Given the description of an element on the screen output the (x, y) to click on. 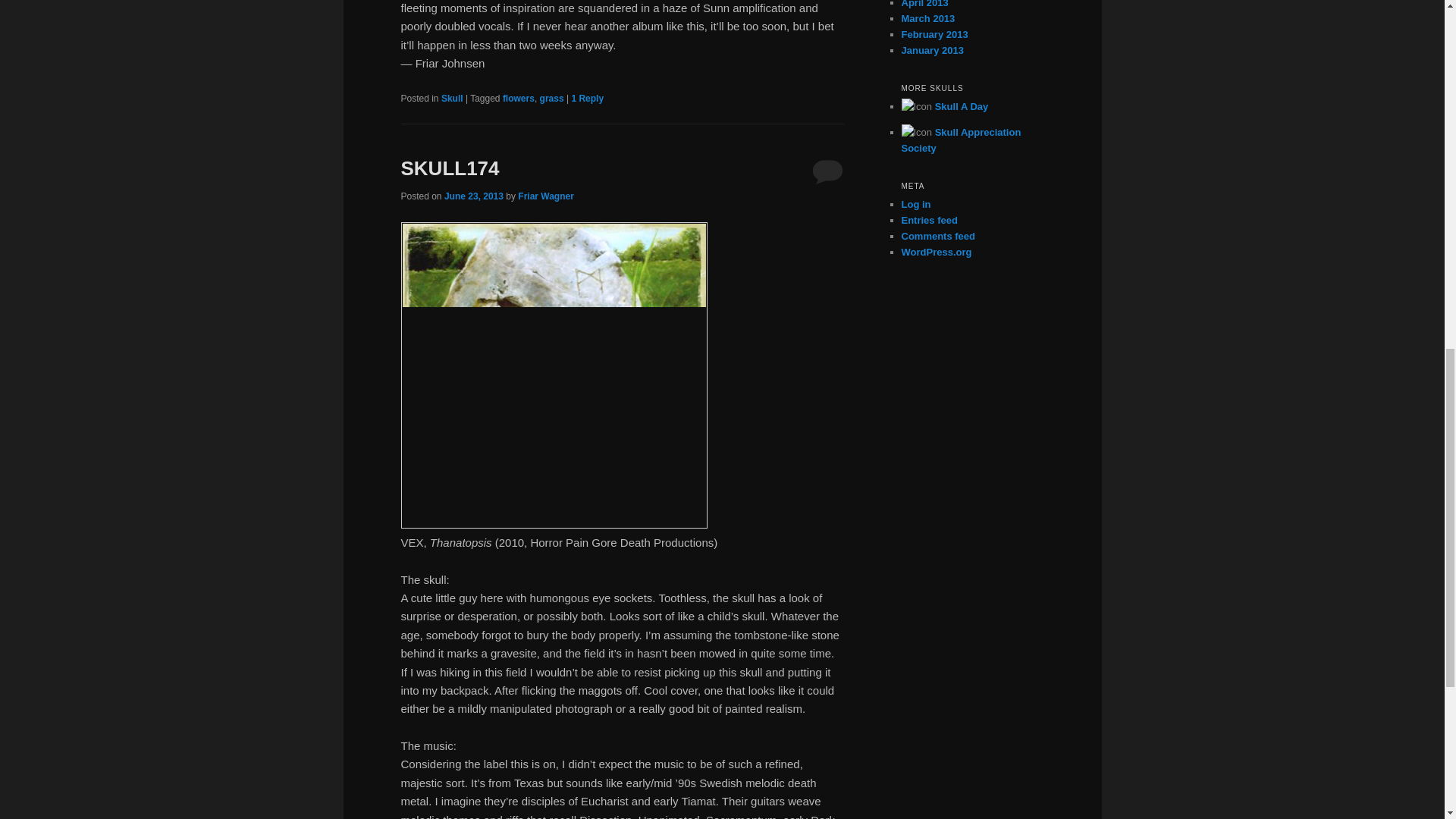
Skull A Day (961, 106)
Permalink to SKULL174 (449, 168)
flowers (518, 98)
Friar Wagner (545, 195)
SKULL174 (449, 168)
View all posts by Friar Wagner (545, 195)
June 23, 2013 (473, 195)
Skull (452, 98)
Skull Appreciation Society (960, 139)
grass (552, 98)
